Given the description of an element on the screen output the (x, y) to click on. 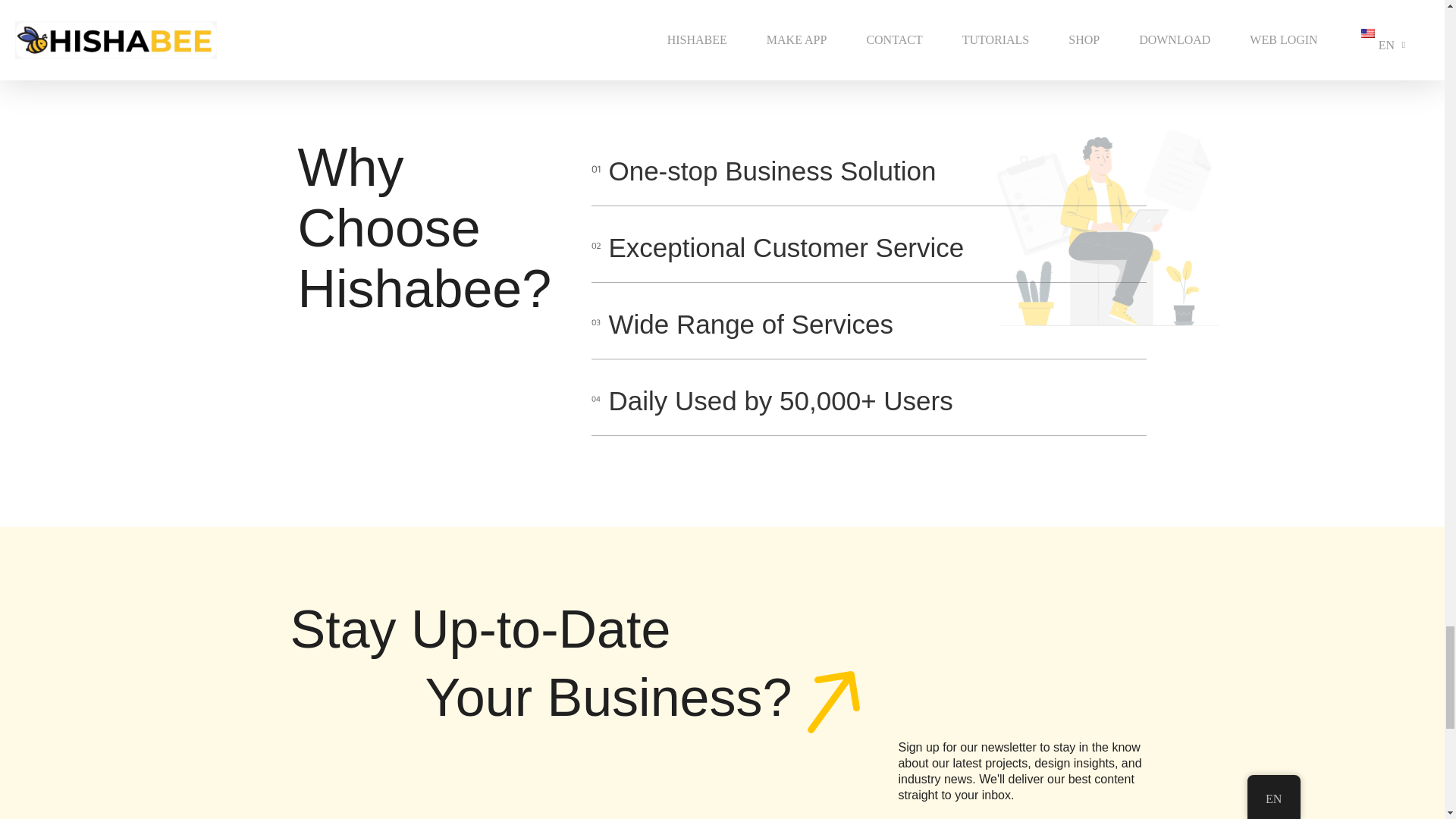
Your Business? (642, 706)
